Given the description of an element on the screen output the (x, y) to click on. 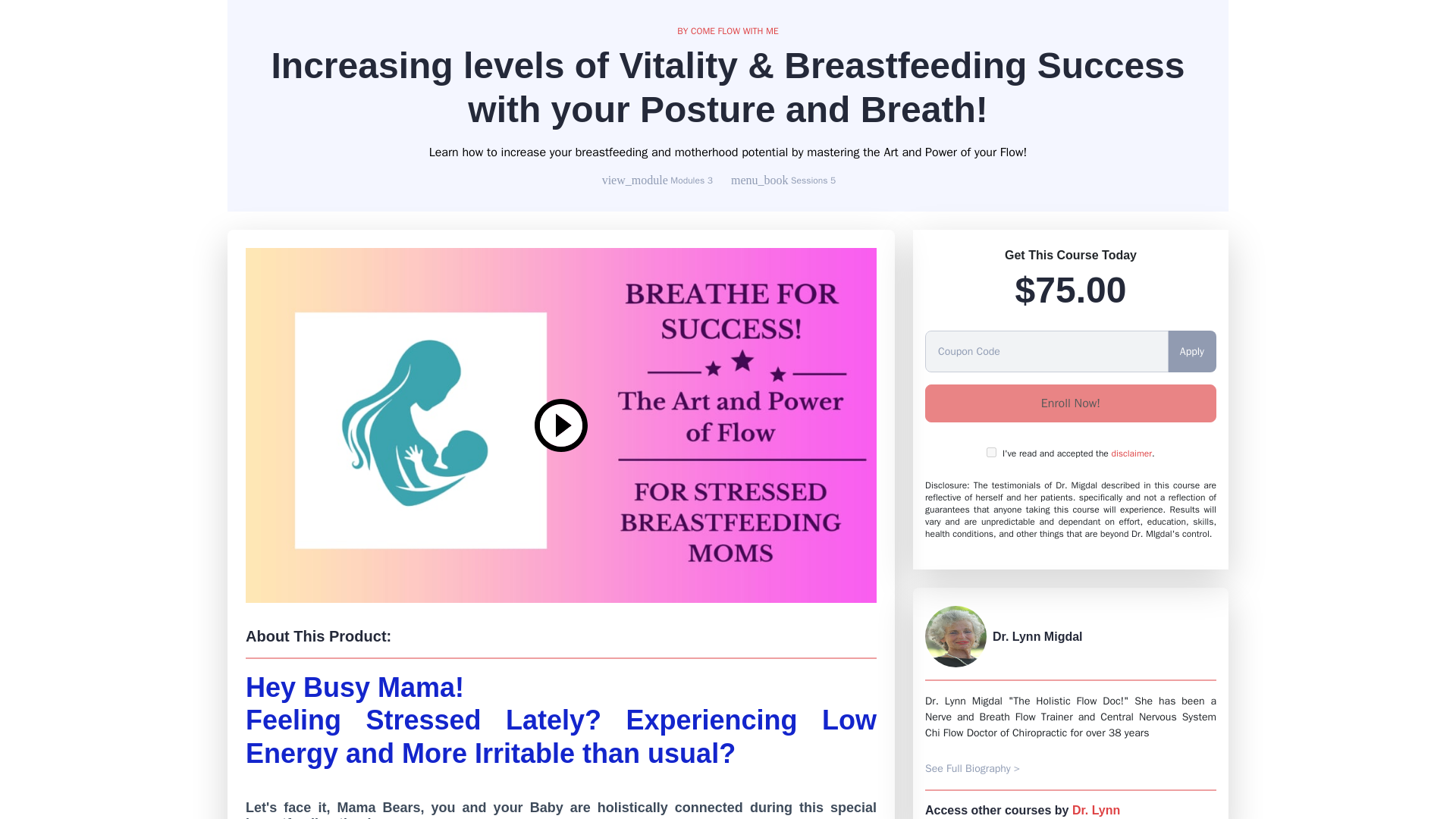
on (991, 452)
Apply (1191, 351)
Dr. Lynn (1095, 809)
Enroll Now! (1069, 403)
disclaimer (1130, 453)
